Given the description of an element on the screen output the (x, y) to click on. 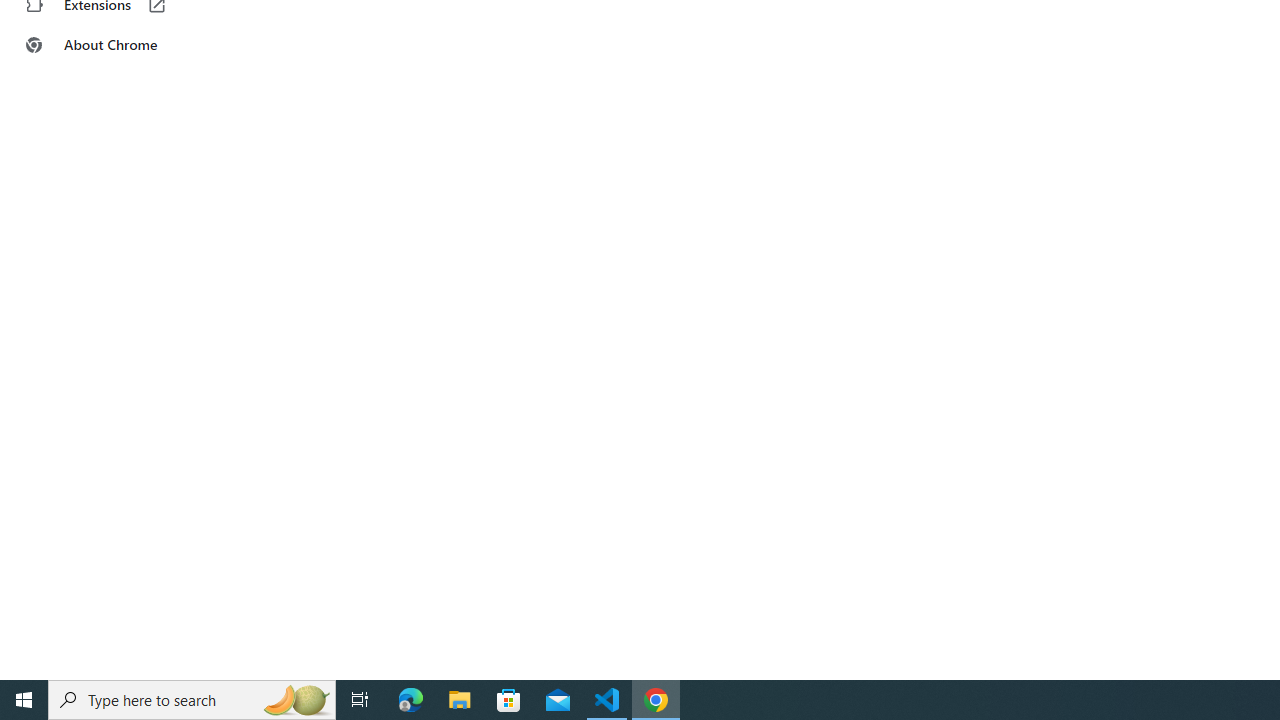
 Bing Bunny: Home bingbunny.com https://uk.bingbunny.com (313, 692)
